Given the description of an element on the screen output the (x, y) to click on. 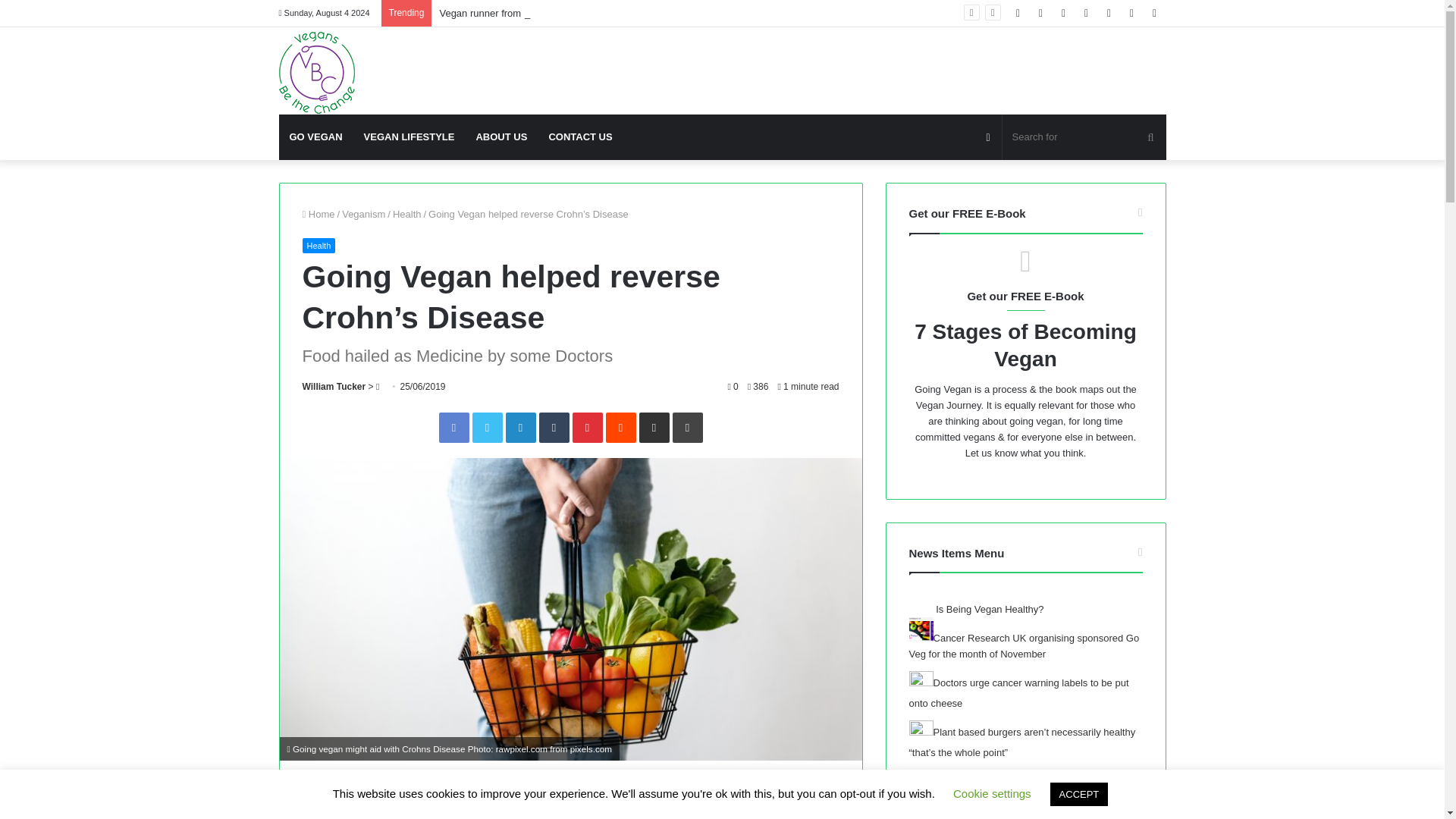
Health (407, 214)
GO VEGAN (316, 136)
VEGAN LIFESTYLE (409, 136)
Twitter (486, 427)
Health (317, 245)
Reddit (619, 427)
CONTACT US (580, 136)
Tumblr (553, 427)
Print (686, 427)
Pinterest (587, 427)
Share via Email (653, 427)
LinkedIn (520, 427)
William Tucker (333, 386)
ABOUT US (500, 136)
Facebook (453, 427)
